Given the description of an element on the screen output the (x, y) to click on. 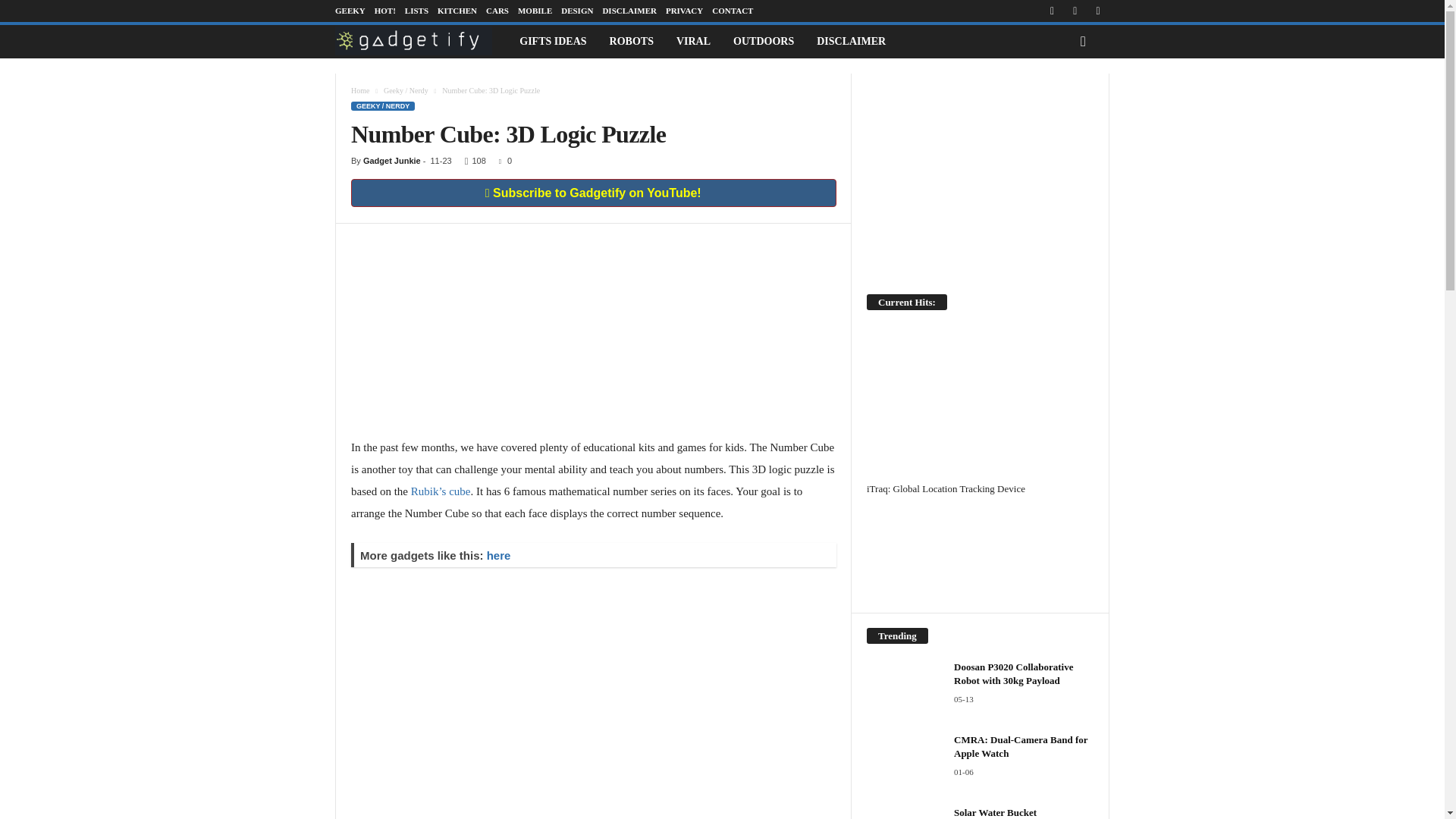
LISTS (416, 10)
GEEKY (349, 10)
HOT! (385, 10)
